Given the description of an element on the screen output the (x, y) to click on. 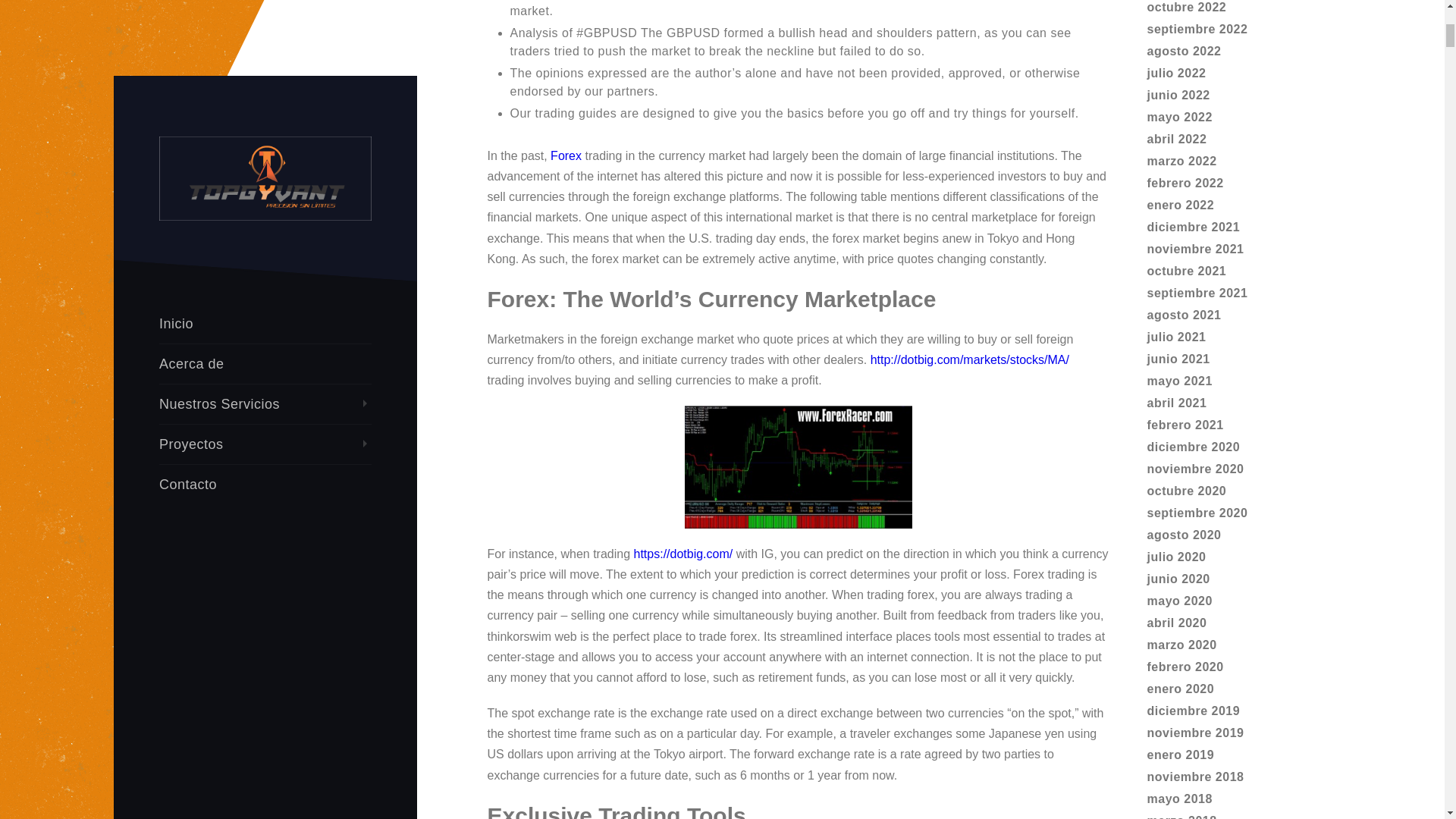
Forex (565, 155)
